Given the description of an element on the screen output the (x, y) to click on. 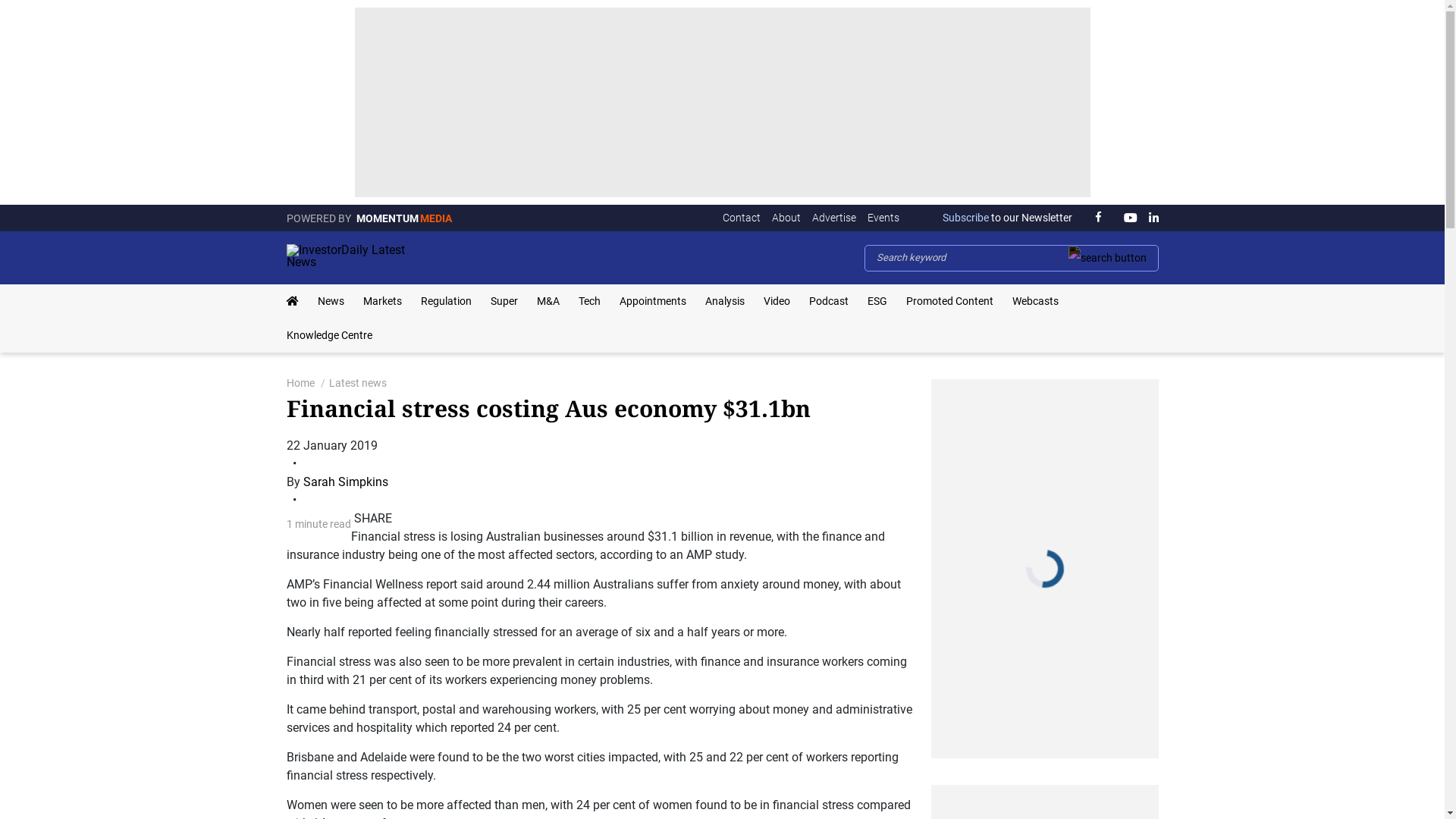
Appointments Element type: text (651, 300)
Events Element type: text (883, 217)
Knowledge Centre Element type: text (329, 335)
Podcast Element type: text (827, 300)
Sarah Simpkins Element type: text (345, 481)
Markets Element type: text (381, 300)
POWERED BY MOMENTUM MEDIA Element type: text (368, 217)
Regulation Element type: text (445, 300)
About Element type: text (785, 217)
Contact Element type: text (740, 217)
Promoted Content Element type: text (948, 300)
Tech Element type: text (588, 300)
Webcasts Element type: text (1034, 300)
Subscribe Element type: text (965, 217)
Video Element type: text (775, 300)
News Element type: text (329, 300)
Super Element type: text (503, 300)
Latest news Element type: text (357, 382)
Advertise Element type: text (833, 217)
M&A Element type: text (547, 300)
Home Element type: text (300, 382)
Analysis Element type: text (724, 300)
ESG Element type: text (877, 300)
